Given the description of an element on the screen output the (x, y) to click on. 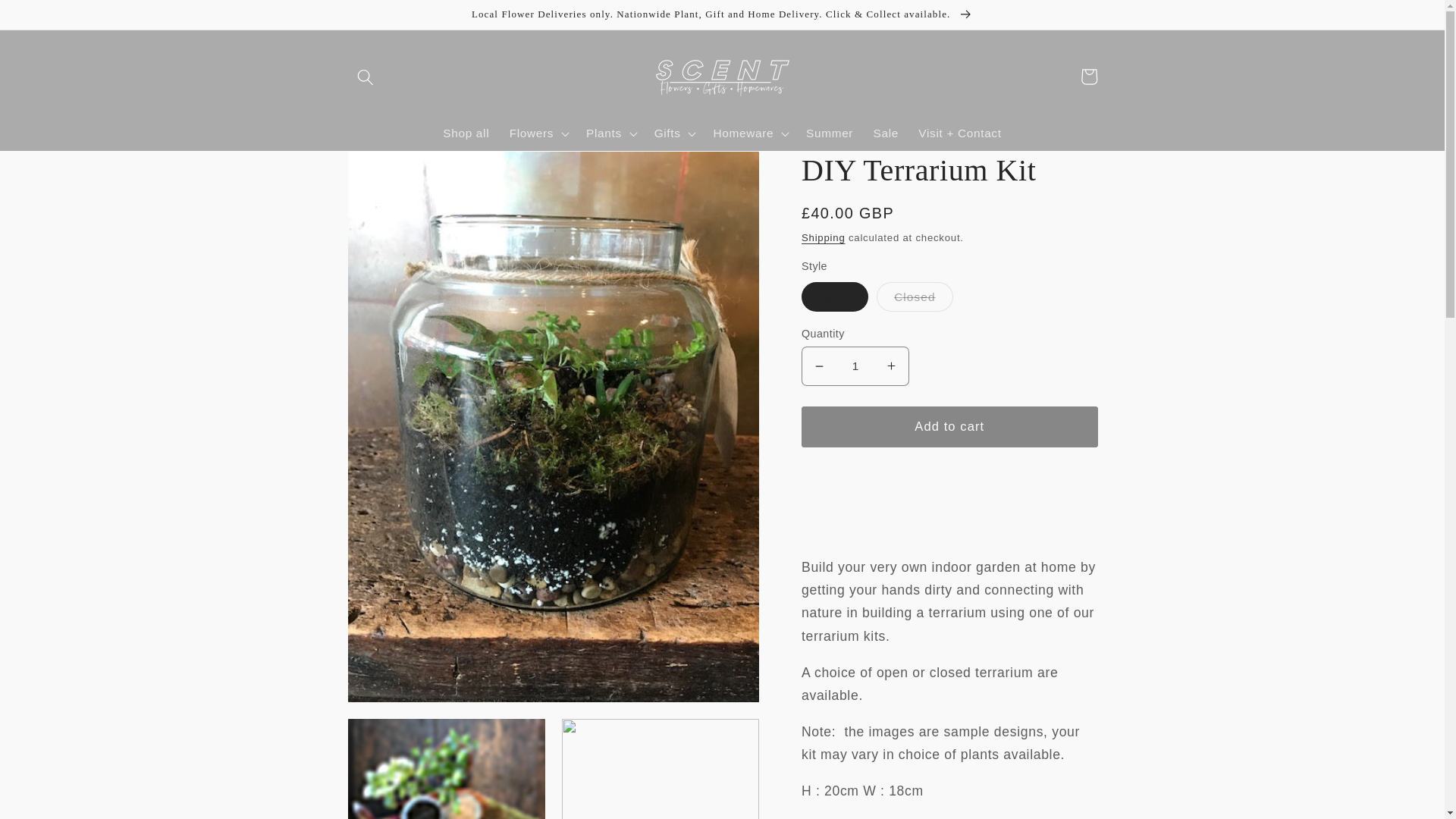
Skip to content (50, 20)
1 (855, 365)
